Given the description of an element on the screen output the (x, y) to click on. 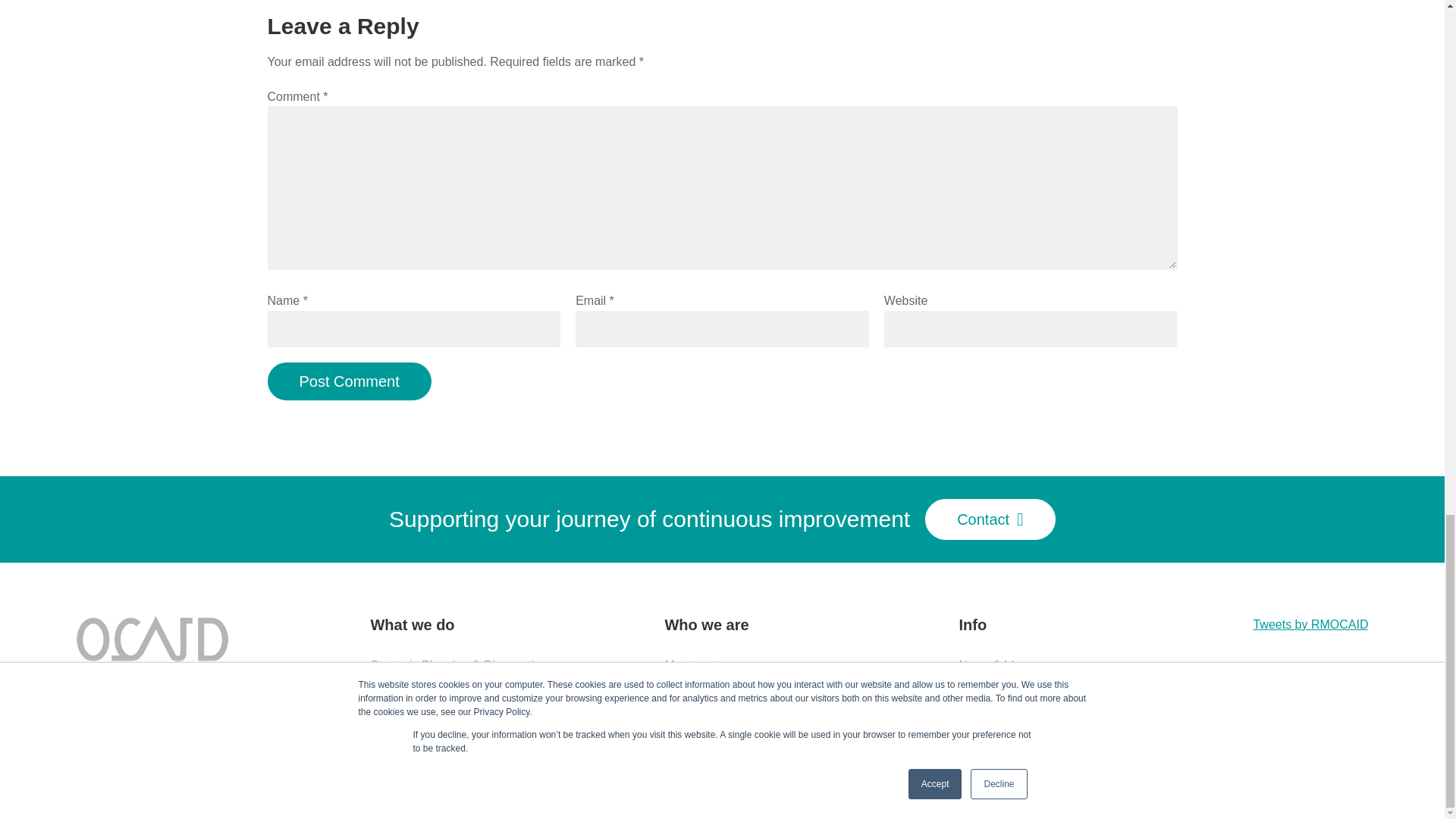
Post Comment (348, 381)
Twitter (90, 684)
Contact (989, 518)
LinkedIn (128, 684)
Post Comment (348, 381)
